Given the description of an element on the screen output the (x, y) to click on. 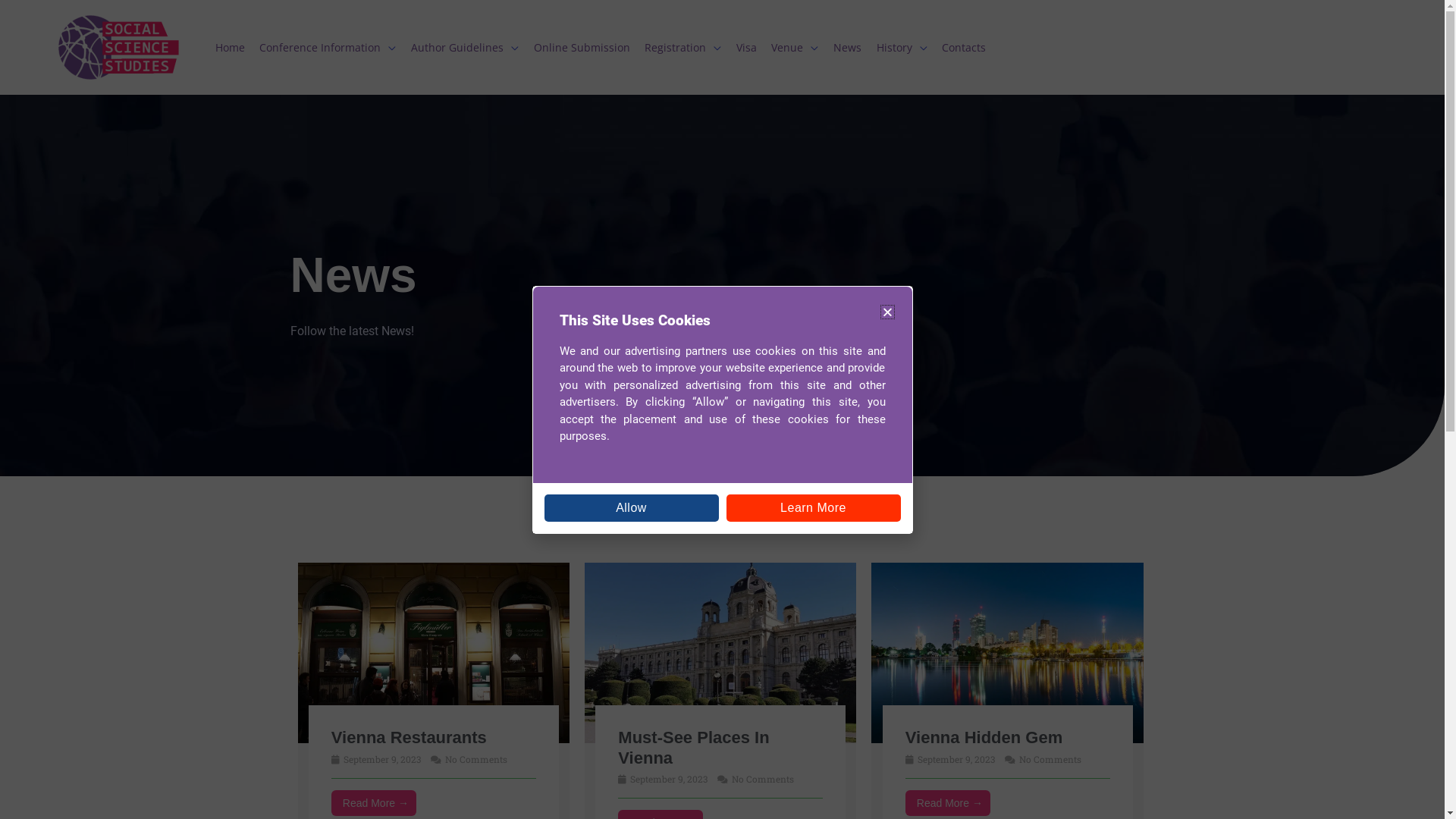
Must-See Places In Vienna Element type: hover (720, 651)
Vienna Hidden Gem Element type: hover (1006, 651)
Vienna Hidden Gem Element type: text (983, 737)
Must-See Places In Vienna Element type: text (693, 747)
Contacts Element type: text (963, 47)
Registration Element type: text (682, 47)
History Element type: text (902, 47)
Conference Information Element type: text (328, 47)
Vienna Restaurants Element type: text (408, 737)
News Element type: text (847, 47)
Vienna Restaurants Element type: hover (432, 651)
Home Element type: text (229, 47)
Online Submission Element type: text (581, 47)
Venue Element type: text (795, 47)
Visa Element type: text (746, 47)
Author Guidelines Element type: text (464, 47)
